Given the description of an element on the screen output the (x, y) to click on. 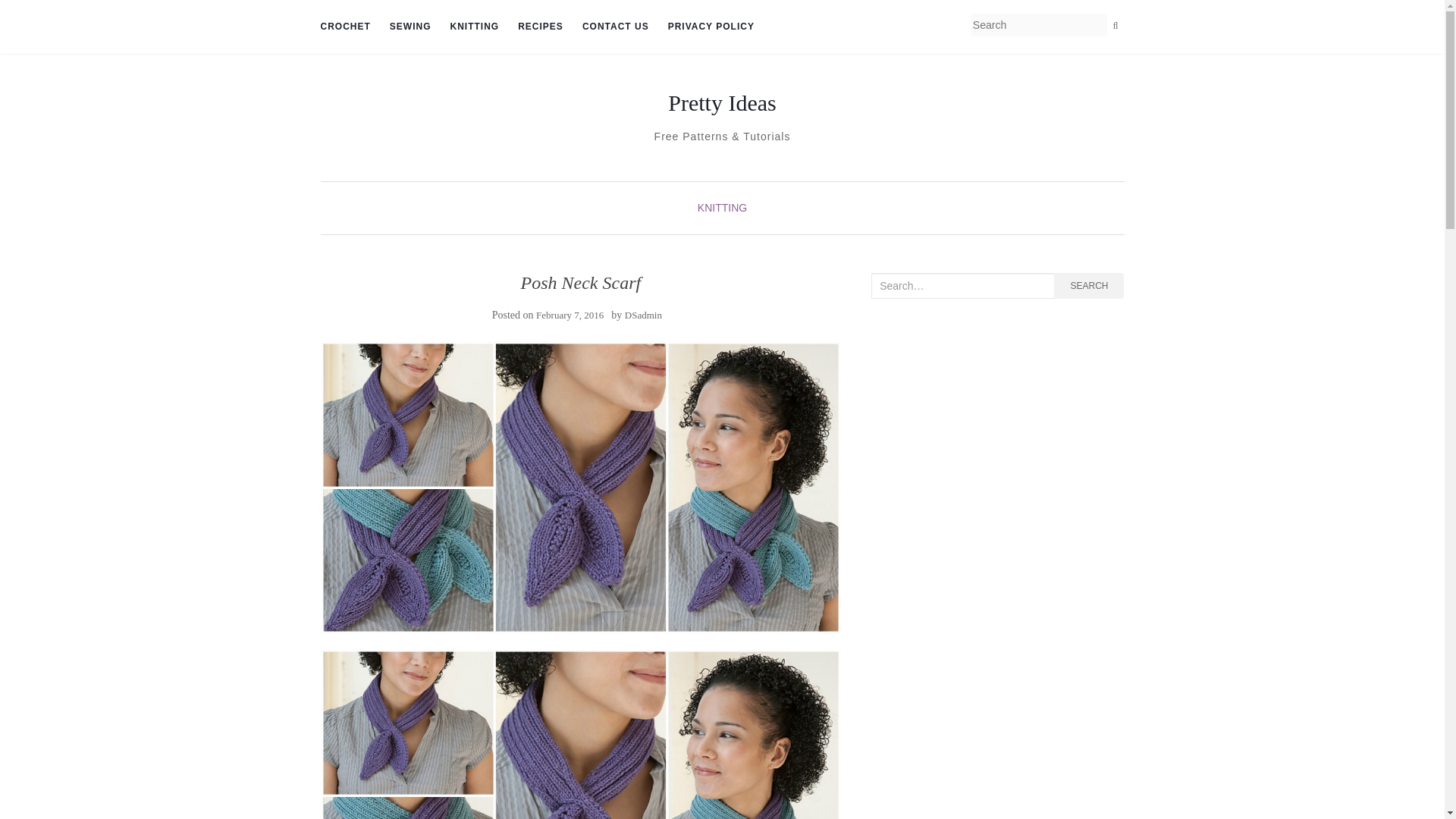
Contact Us (615, 27)
Pretty Ideas (722, 102)
Search for: (962, 285)
CONTACT US (615, 27)
February 7, 2016 (569, 315)
KNITTING (474, 27)
CROCHET (344, 27)
PRIVACY POLICY (711, 27)
Knitting (474, 27)
KNITTING (721, 207)
Pretty Ideas (722, 102)
Privacy Policy (711, 27)
DSadmin (643, 315)
Crochet (344, 27)
